Given the description of an element on the screen output the (x, y) to click on. 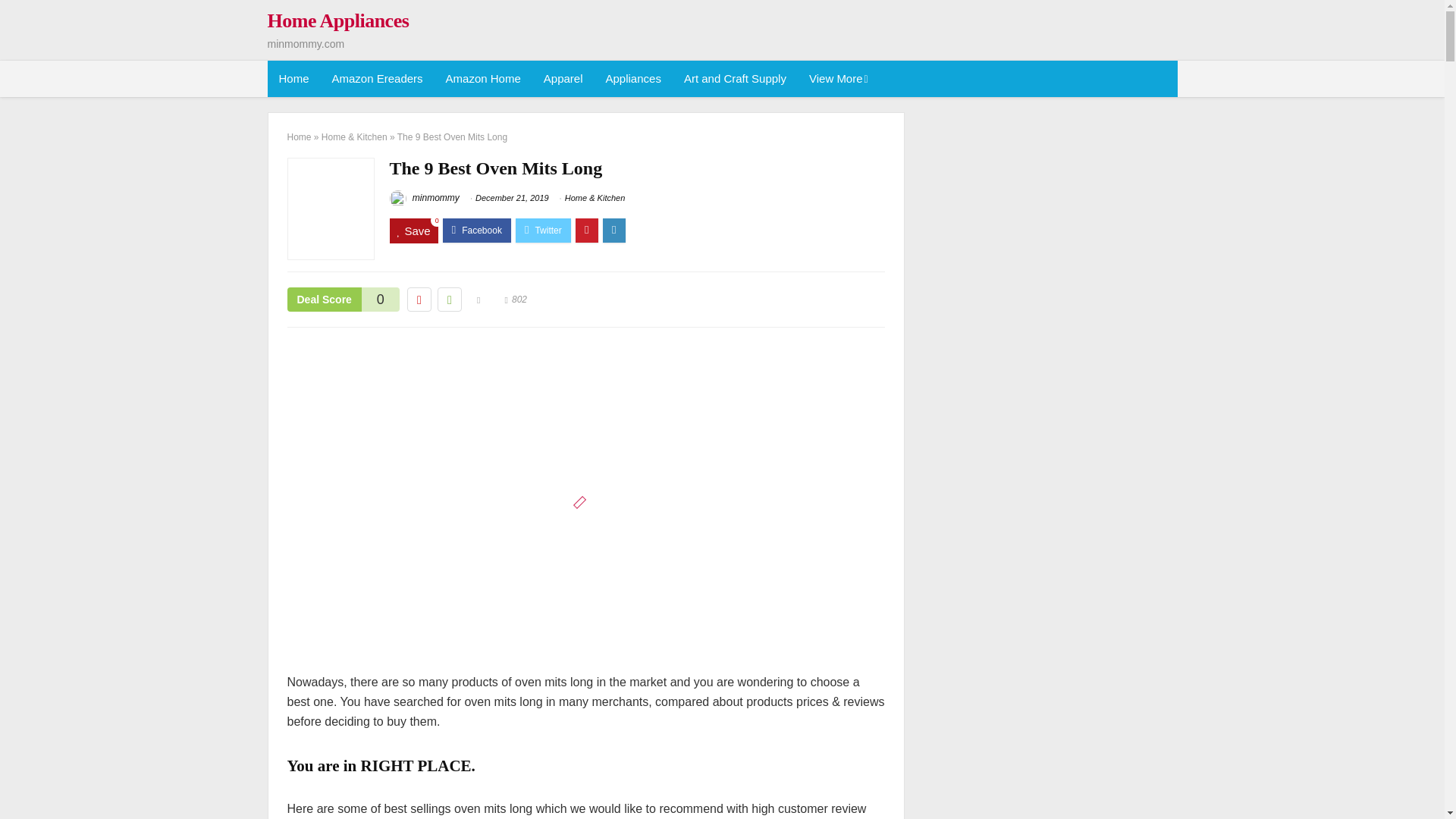
View More (836, 78)
Amazon Home (482, 78)
Home (293, 78)
Vote down (418, 299)
Art and Craft Supply (734, 78)
Appliances (633, 78)
Amazon Ereaders (376, 78)
Apparel (563, 78)
